Given the description of an element on the screen output the (x, y) to click on. 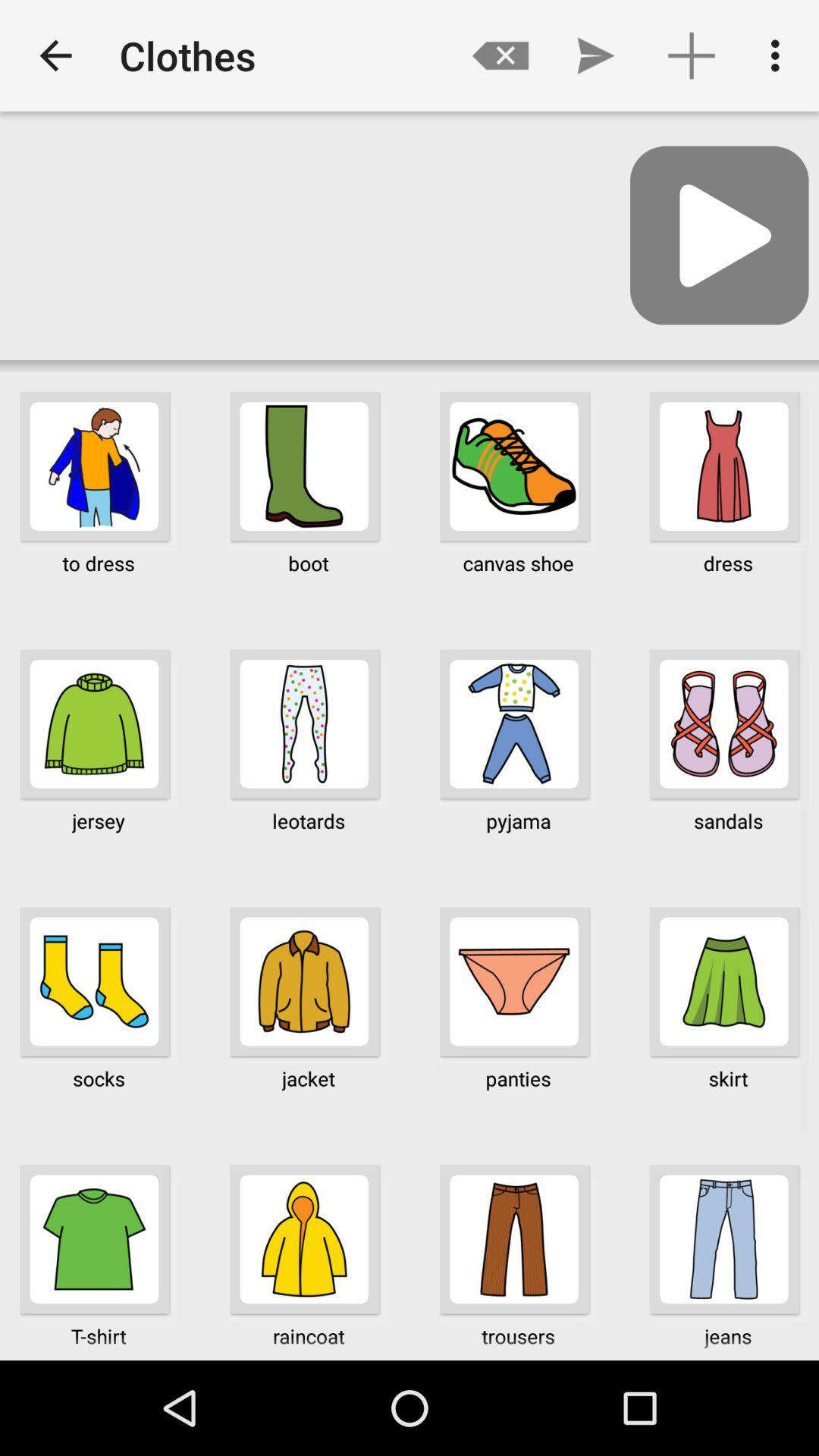
turn off app next to the clothes icon (500, 55)
